Given the description of an element on the screen output the (x, y) to click on. 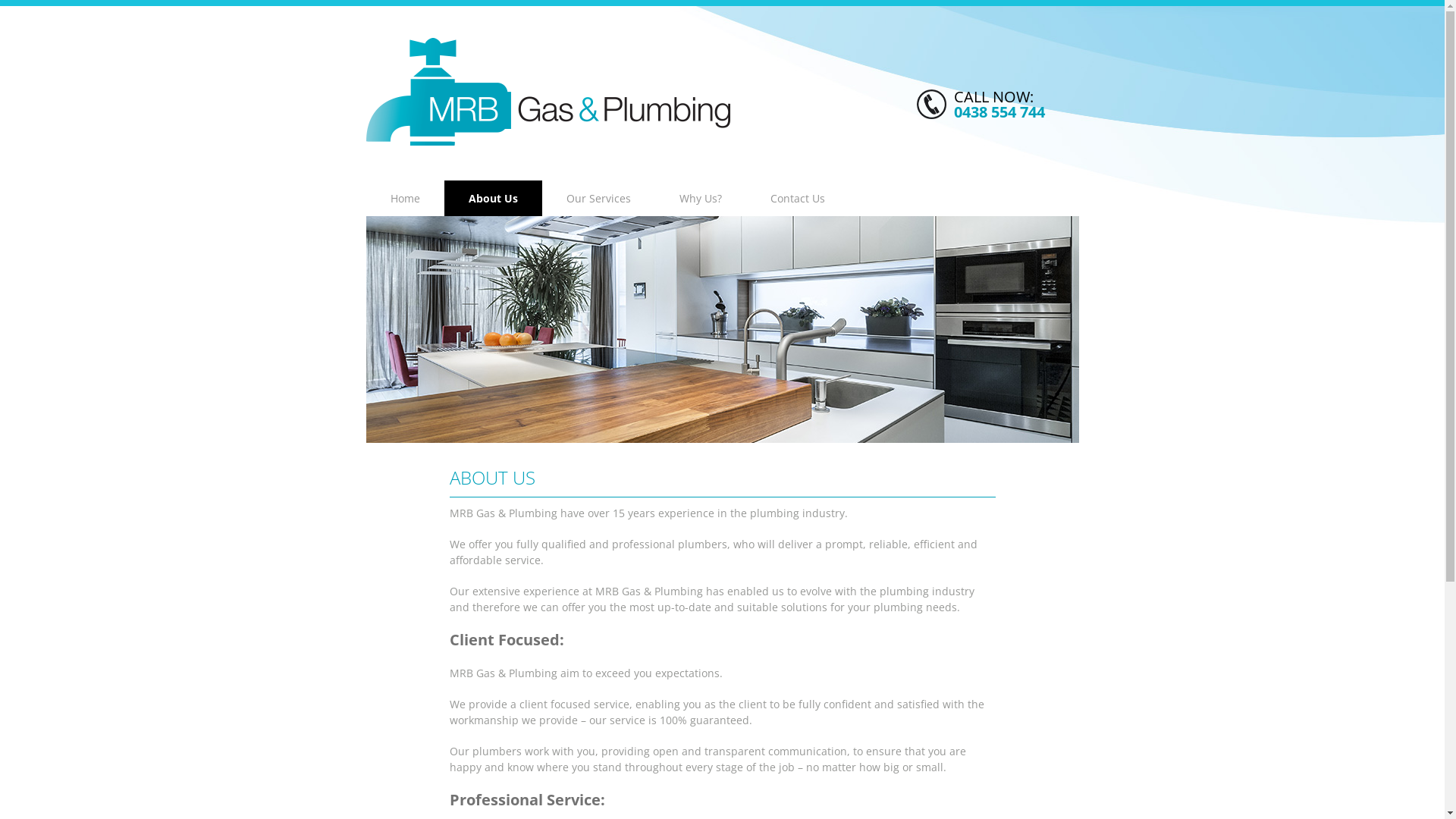
Our Services Element type: text (597, 198)
Home Element type: text (404, 198)
Why Us? Element type: text (700, 198)
MRB Gas and Plumbing Element type: text (547, 91)
Contact Us Element type: text (797, 198)
About Us Element type: text (493, 198)
